Given the description of an element on the screen output the (x, y) to click on. 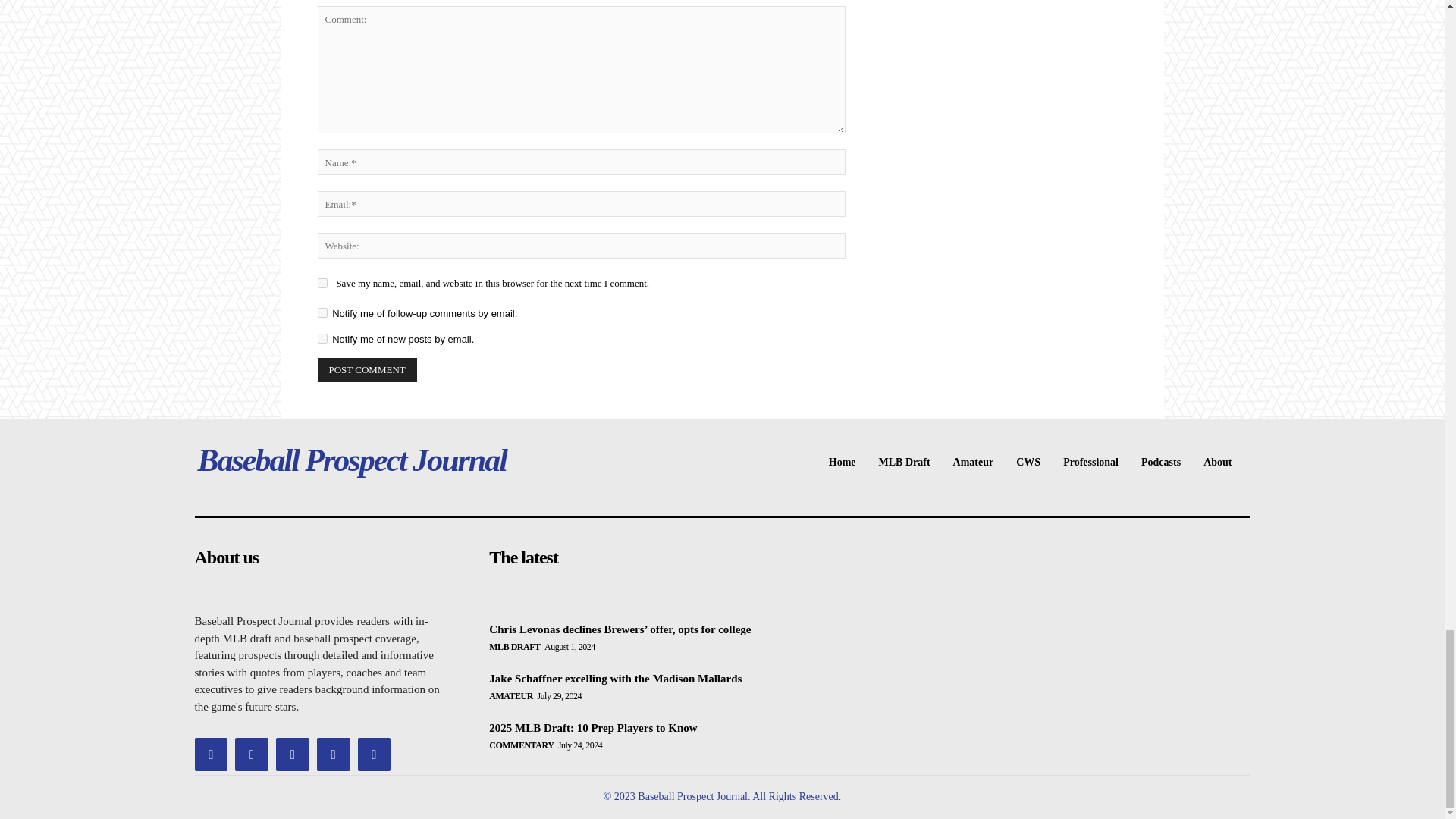
Post Comment (366, 369)
subscribe (321, 338)
yes (321, 283)
subscribe (321, 312)
